Given the description of an element on the screen output the (x, y) to click on. 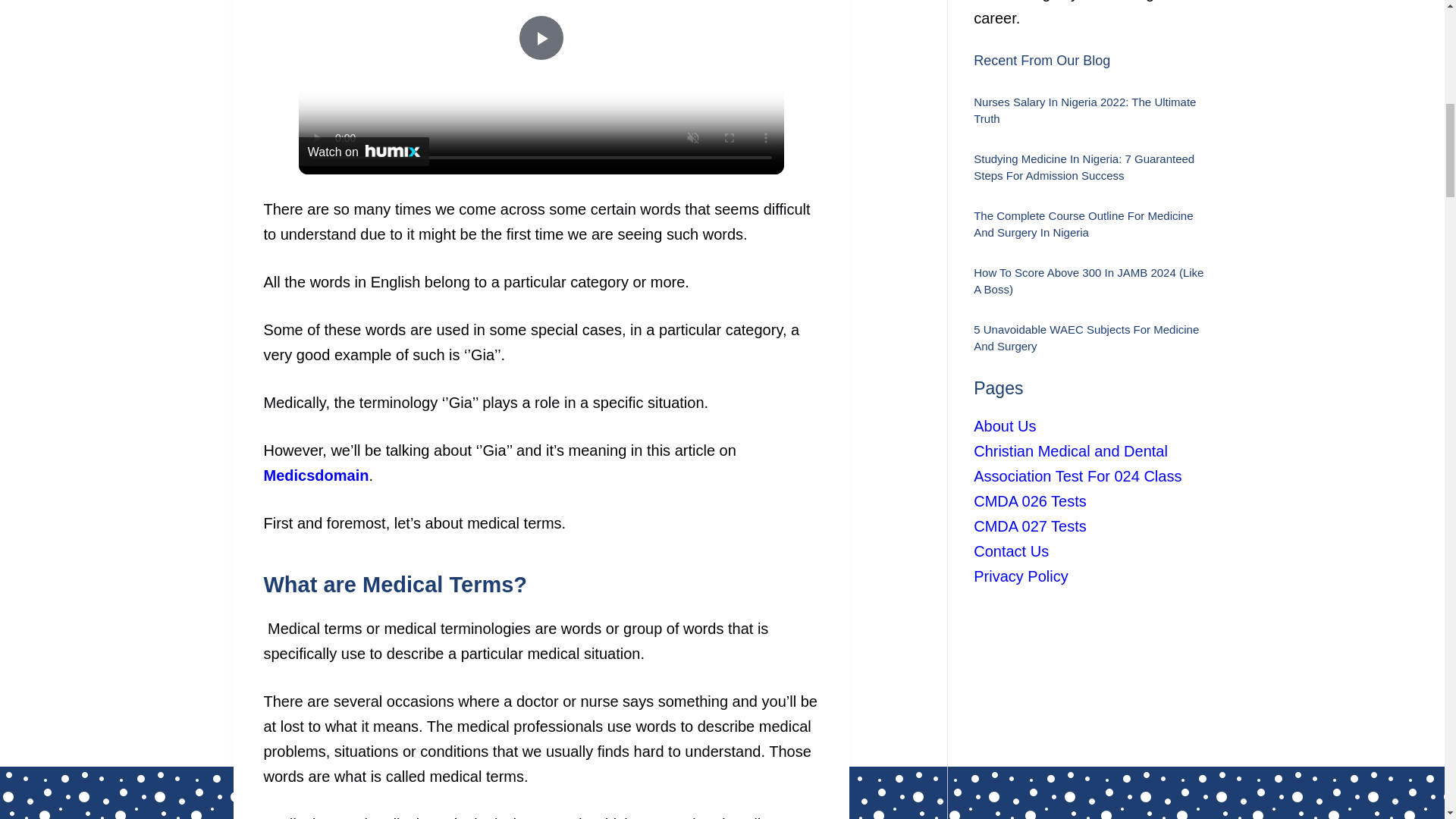
Play Video (541, 37)
Play Video (541, 37)
